Given the description of an element on the screen output the (x, y) to click on. 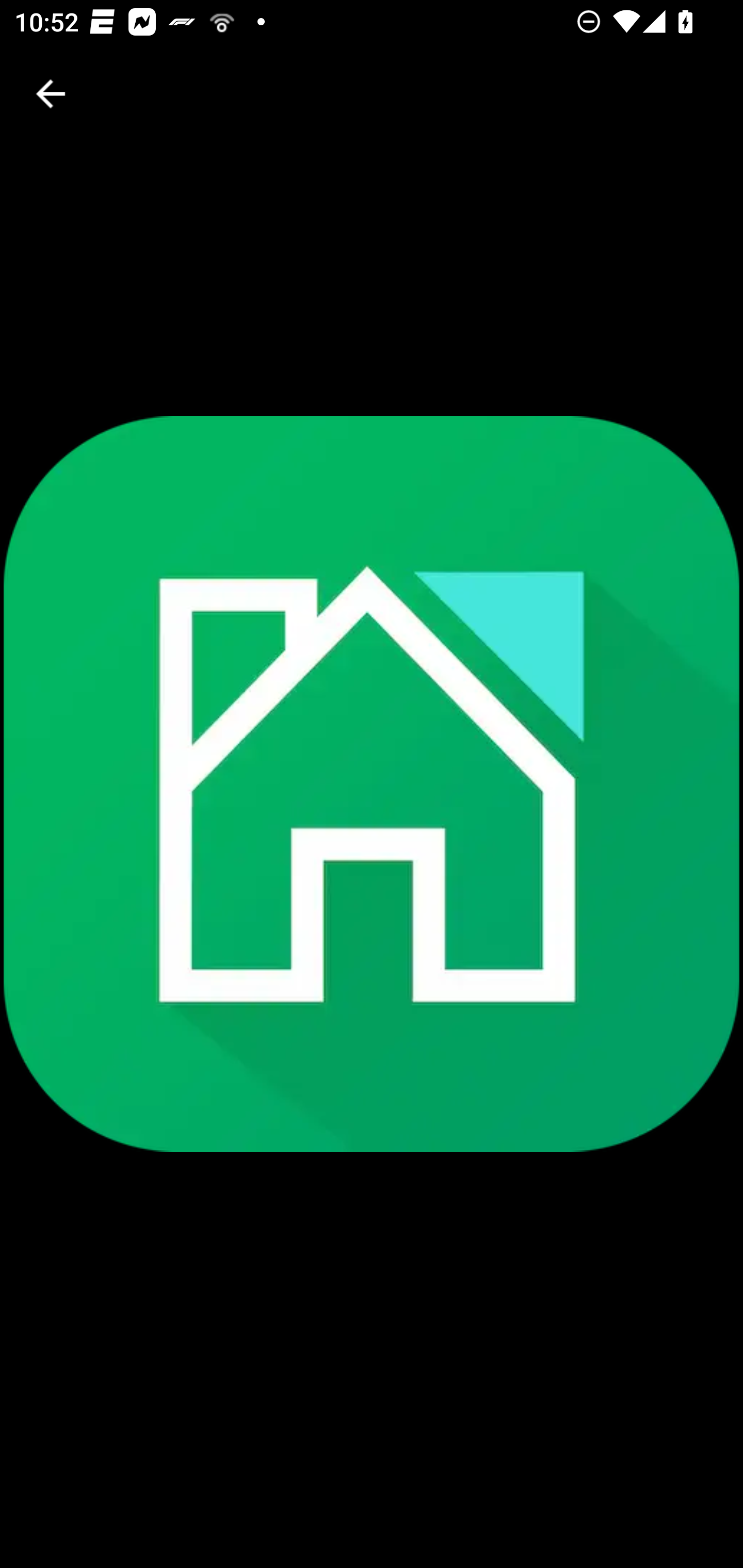
Back (50, 93)
